Given the description of an element on the screen output the (x, y) to click on. 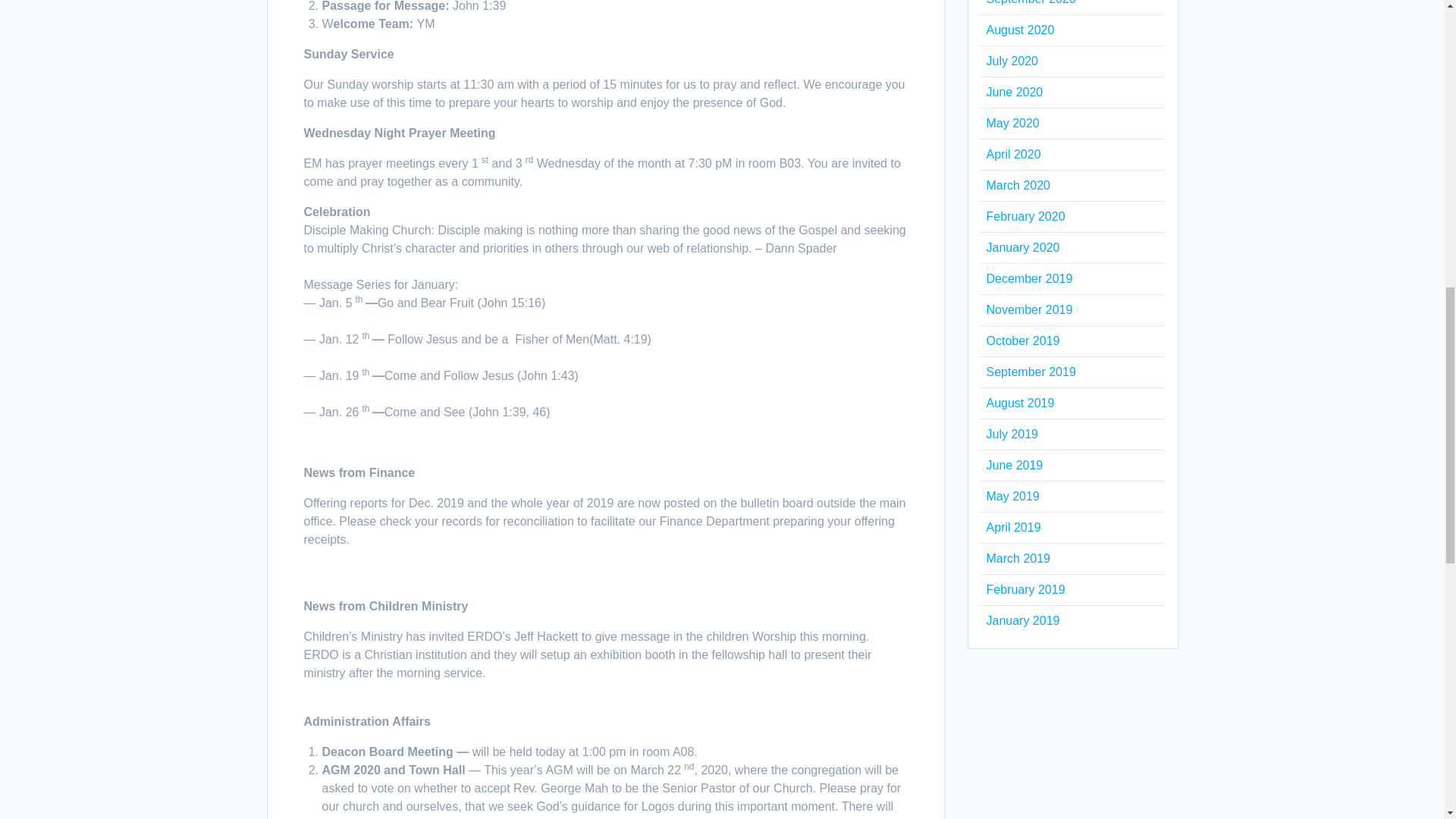
August 2020 (1019, 29)
June 2020 (1013, 91)
November 2019 (1028, 309)
April 2020 (1013, 154)
September 2019 (1030, 371)
March 2020 (1017, 185)
September 2020 (1030, 2)
December 2019 (1028, 278)
July 2020 (1011, 60)
February 2020 (1024, 215)
